Given the description of an element on the screen output the (x, y) to click on. 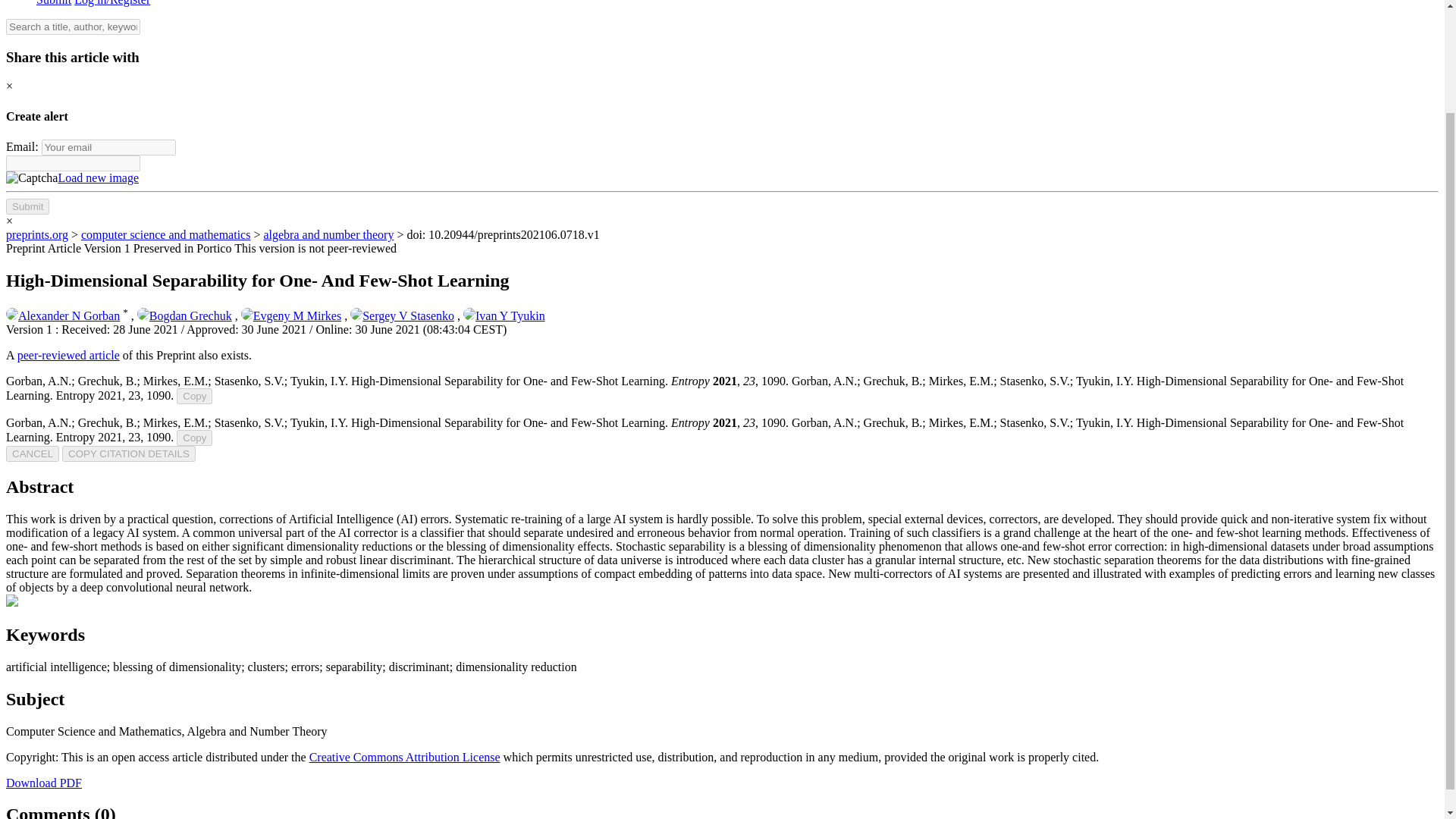
Copy (194, 396)
peer-reviewed article (68, 354)
Sergey V Stasenko (402, 315)
Ivan Y Tyukin (503, 315)
Load new image (98, 177)
Submit (53, 2)
computer science and mathematics (165, 234)
CANCEL (32, 453)
Evgeny M Mirkes (290, 315)
algebra and number theory (328, 234)
Bogdan Grechuk (183, 315)
preprints.org (36, 234)
Copy (194, 437)
Submit (27, 206)
Alexander N Gorban (62, 315)
